Given the description of an element on the screen output the (x, y) to click on. 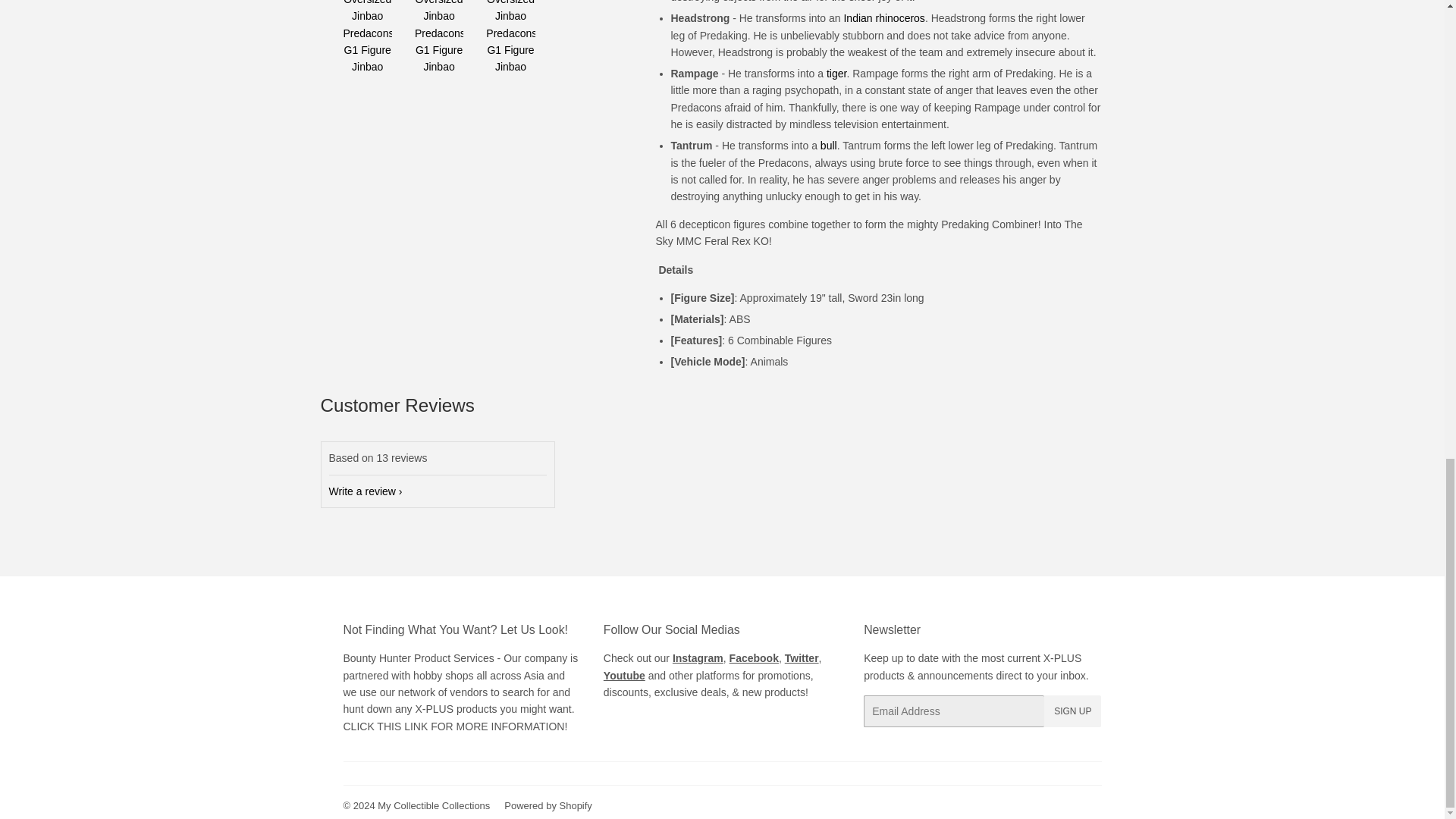
Tiger (836, 73)
Indian rhinoceros (883, 18)
Cattle (829, 145)
